Given the description of an element on the screen output the (x, y) to click on. 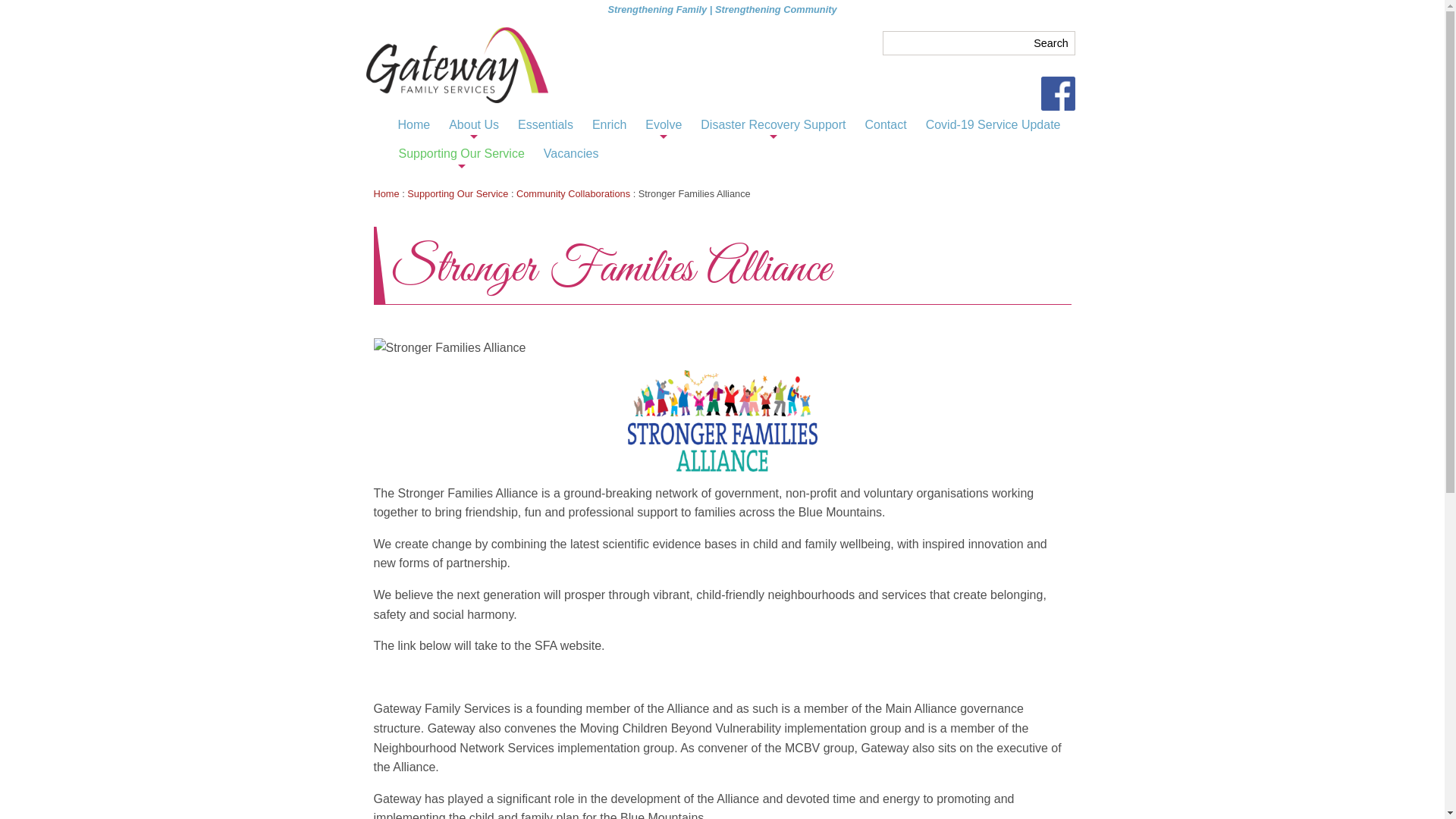
Essentials Element type: text (545, 125)
Disaster Recovery Support Element type: text (772, 125)
Search Element type: text (1051, 43)
Supporting Our Service Element type: text (461, 154)
Supporting Our Service Element type: text (457, 193)
Covid-19 Service Update Element type: text (993, 125)
Home Element type: text (385, 193)
Vacancies Element type: text (571, 154)
Community Collaborations Element type: text (573, 193)
Evolve Element type: text (663, 125)
About Us Element type: text (473, 125)
Home Element type: text (413, 125)
Enrich Element type: text (609, 125)
Contact Element type: text (885, 125)
